Given the description of an element on the screen output the (x, y) to click on. 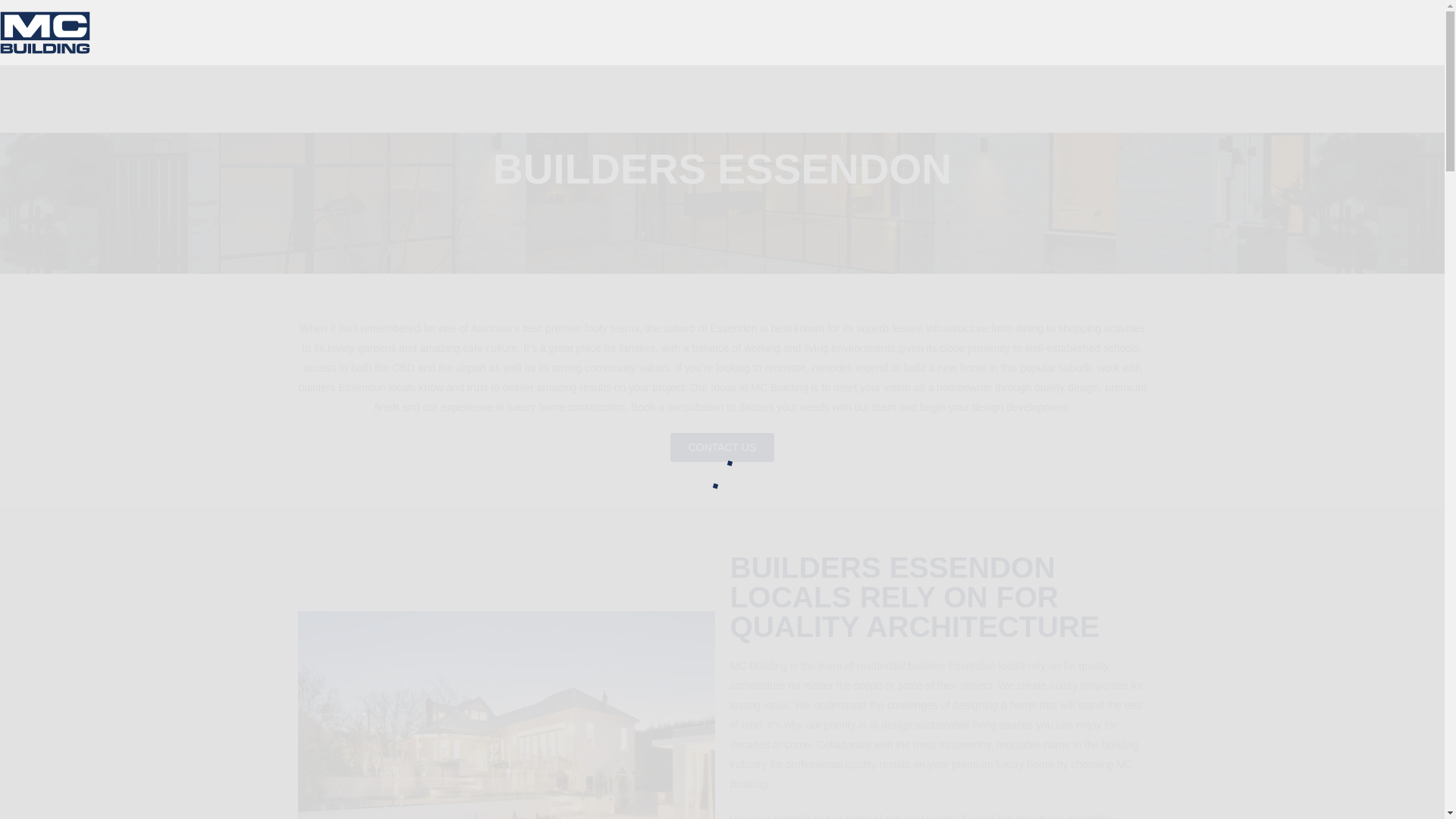
CLOSE (31, 86)
MC Building (45, 30)
CONTACT US (721, 447)
